Given the description of an element on the screen output the (x, y) to click on. 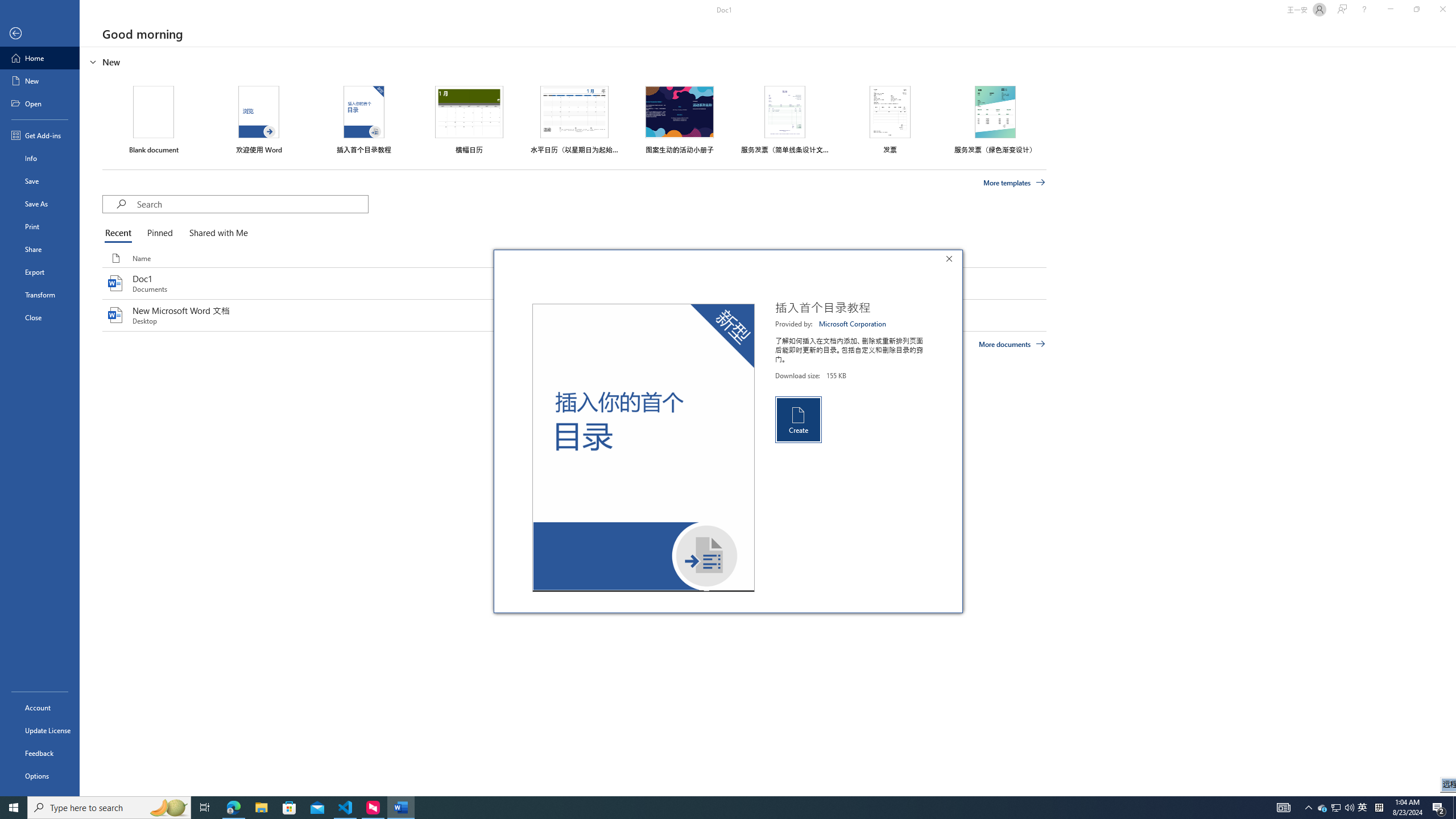
Close (40, 317)
Task View (204, 807)
Transform (40, 294)
Word - 1 running window (400, 807)
Hide or show region (92, 61)
Preview (643, 447)
Get Add-ins (40, 134)
Account (40, 707)
Action Center, 2 new notifications (1439, 807)
Show desktop (1454, 807)
File Explorer (261, 807)
